Given the description of an element on the screen output the (x, y) to click on. 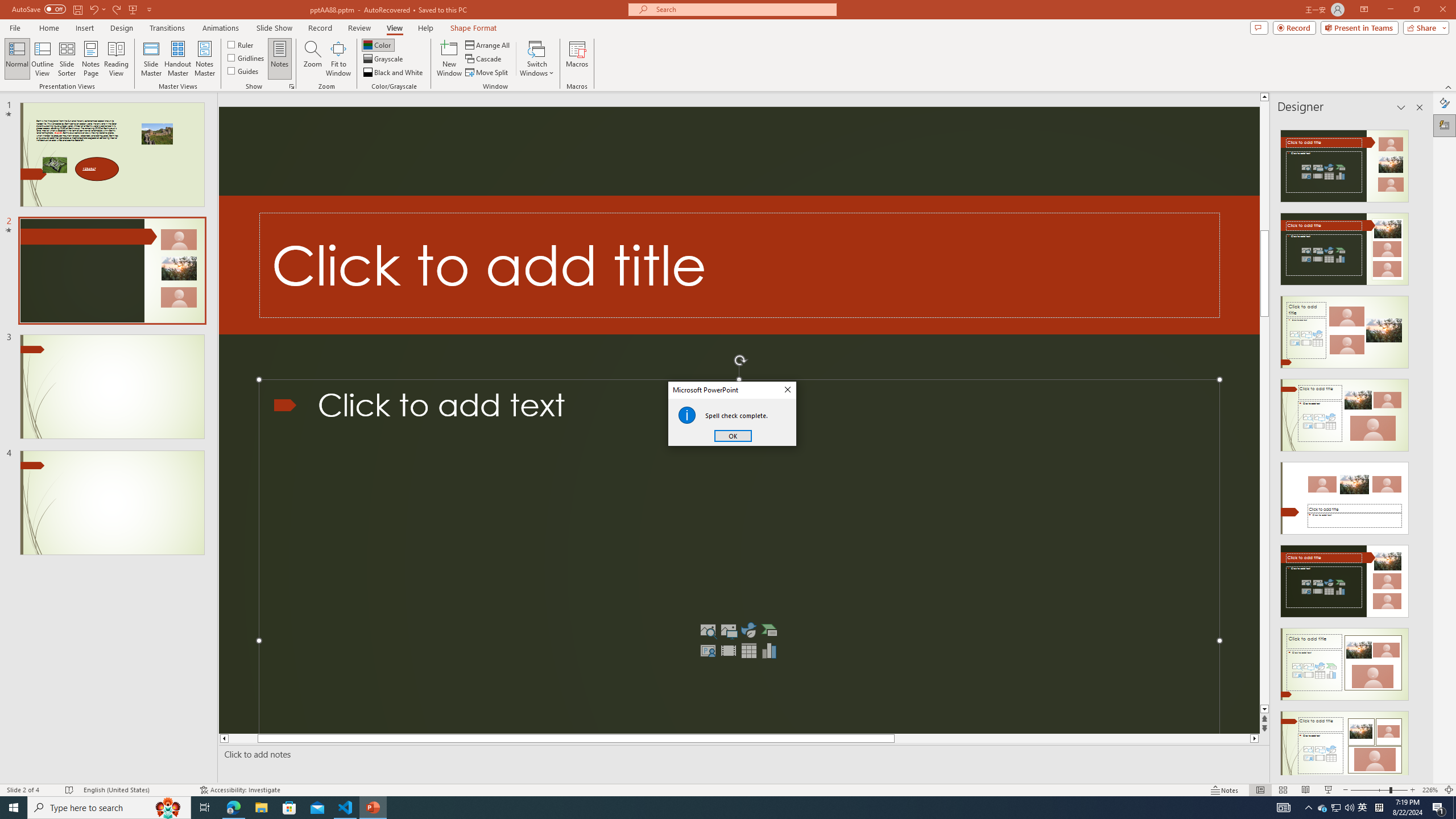
Decorative Locked (738, 264)
